Given the description of an element on the screen output the (x, y) to click on. 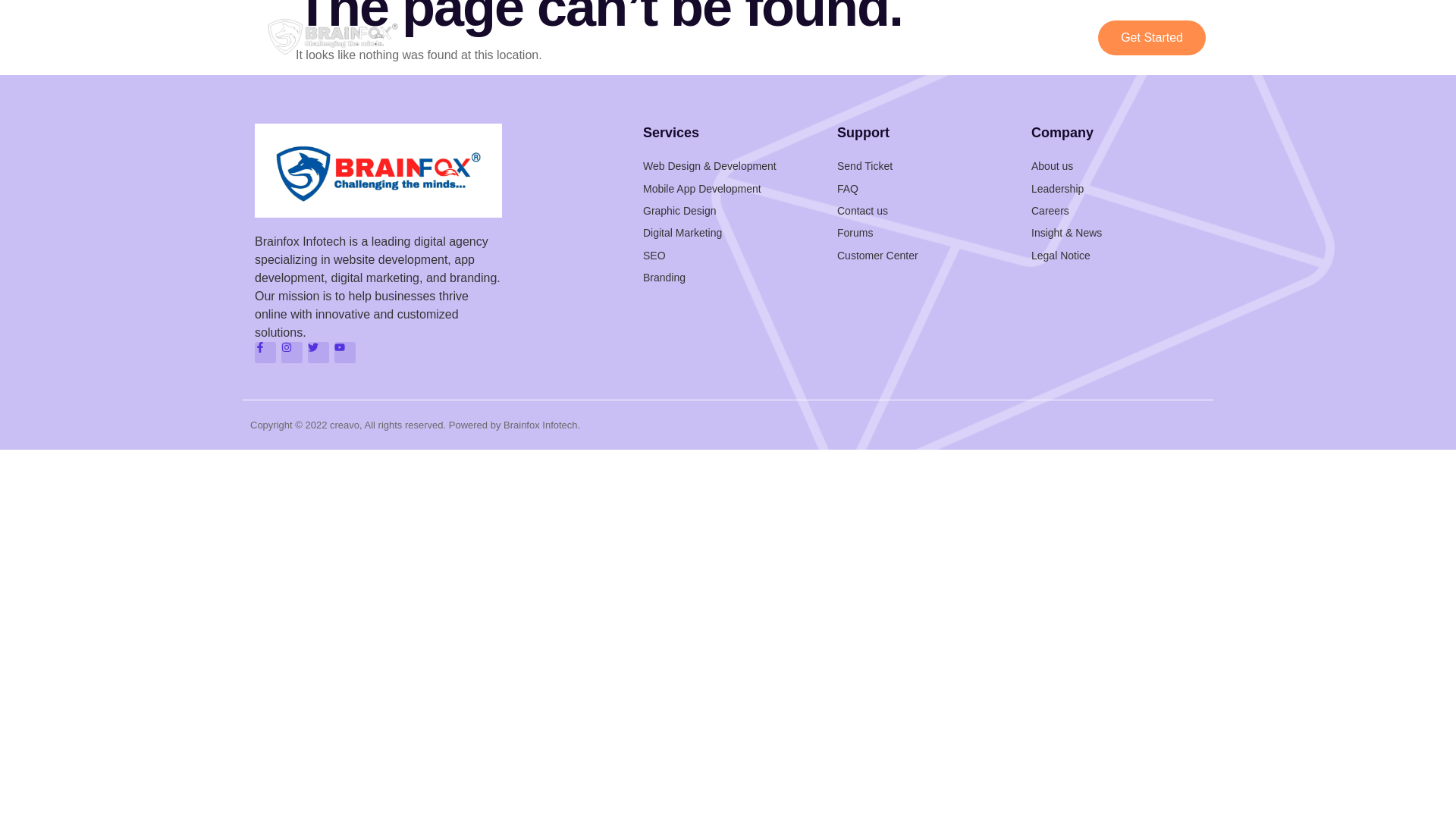
Branding (727, 277)
Get Started (1151, 37)
Legal Notice (1115, 255)
Graphic Design (727, 210)
Leadership (1115, 188)
Digital Marketing (727, 232)
Contact us (922, 210)
About Us (936, 37)
Careers (1115, 210)
Send Ticket (922, 166)
